Given the description of an element on the screen output the (x, y) to click on. 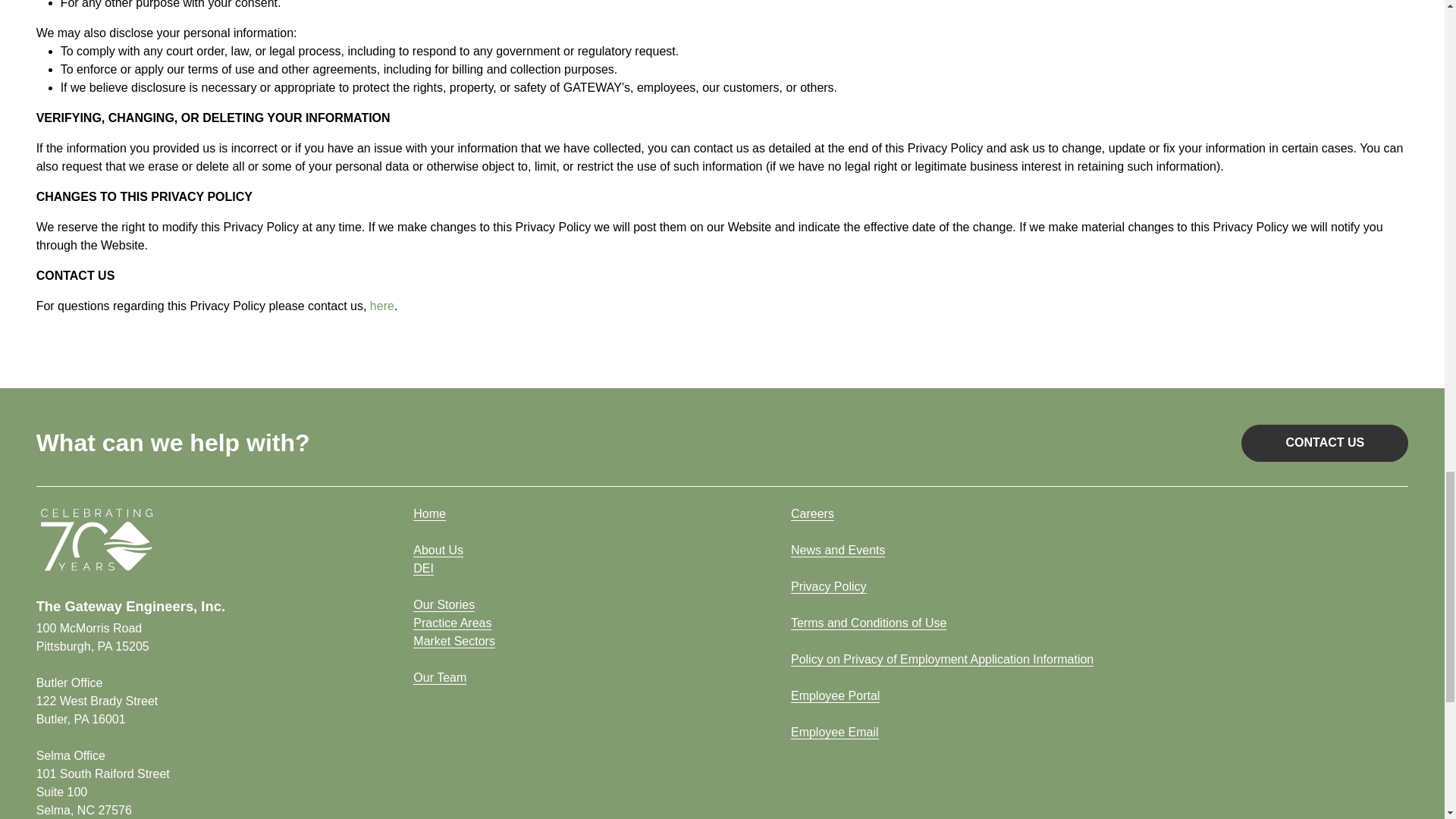
About Us (438, 550)
Our Stories (443, 604)
CONTACT US (1324, 443)
DEI (423, 568)
here (97, 709)
Market Sectors (381, 305)
Home (92, 636)
Practice Areas (454, 641)
